Given the description of an element on the screen output the (x, y) to click on. 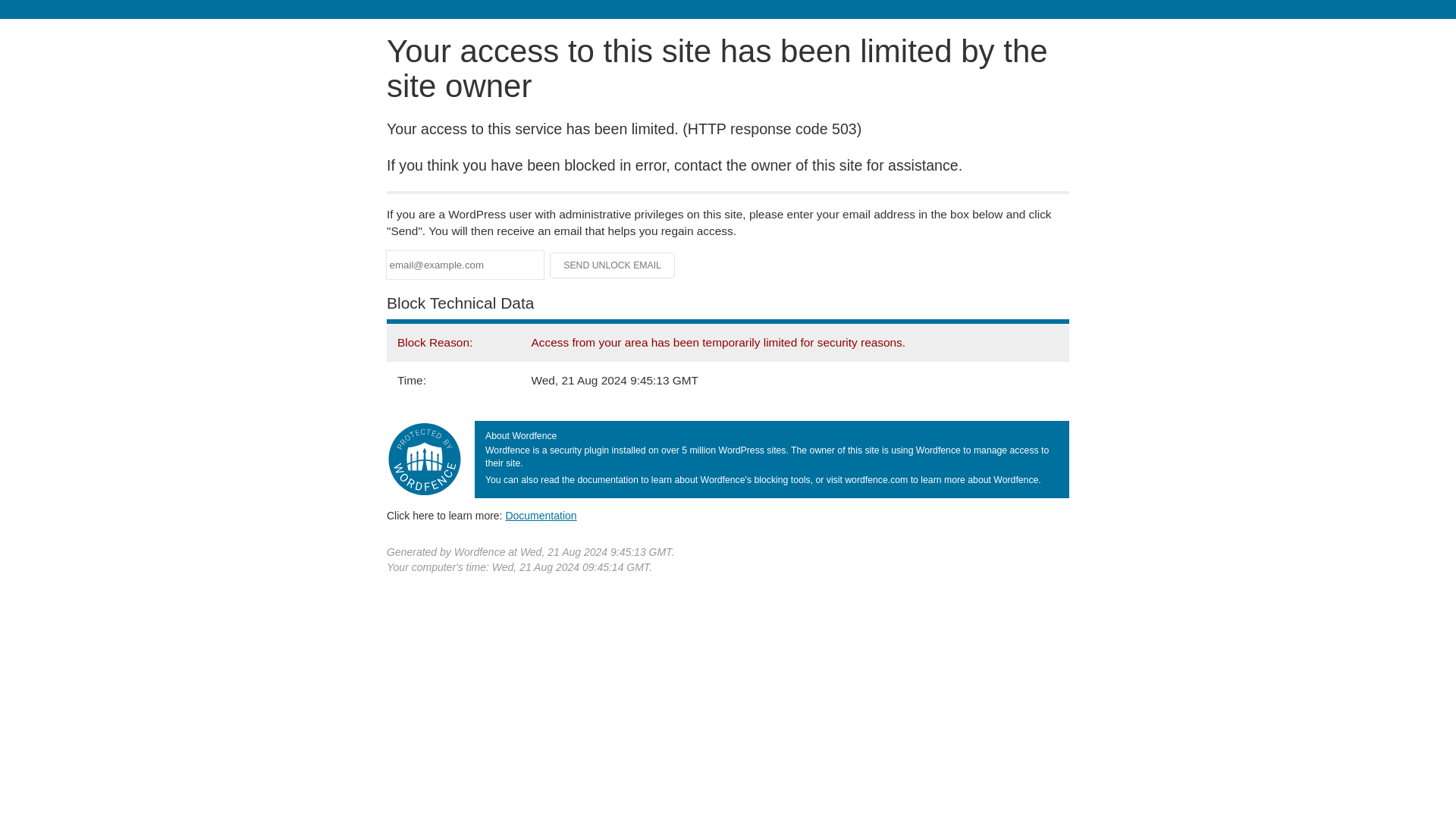
Documentation (540, 515)
Send Unlock Email (612, 265)
Send Unlock Email (612, 265)
